Given the description of an element on the screen output the (x, y) to click on. 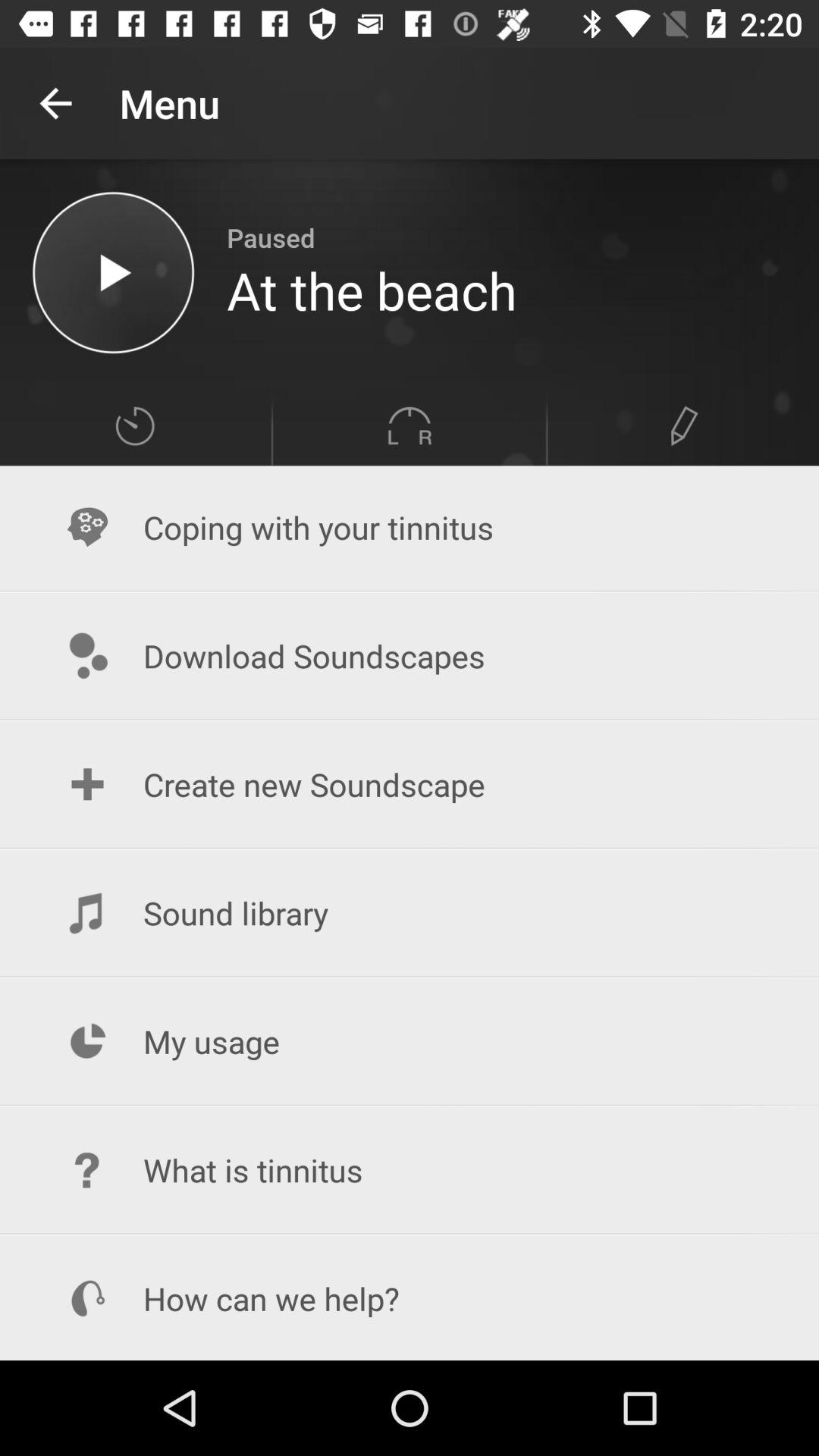
press the icon to the left of the menu icon (55, 103)
